Given the description of an element on the screen output the (x, y) to click on. 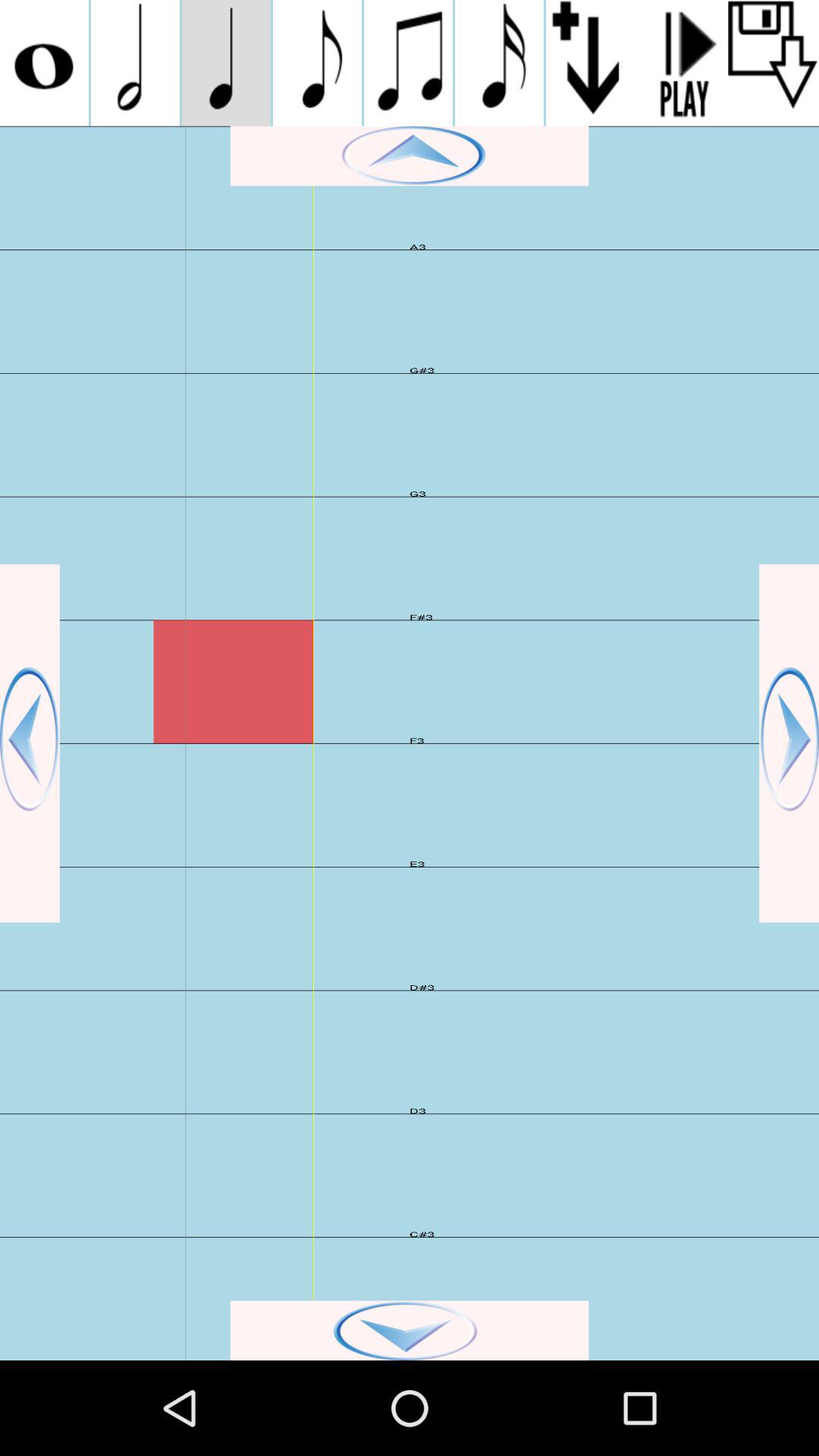
music (317, 63)
